Given the description of an element on the screen output the (x, y) to click on. 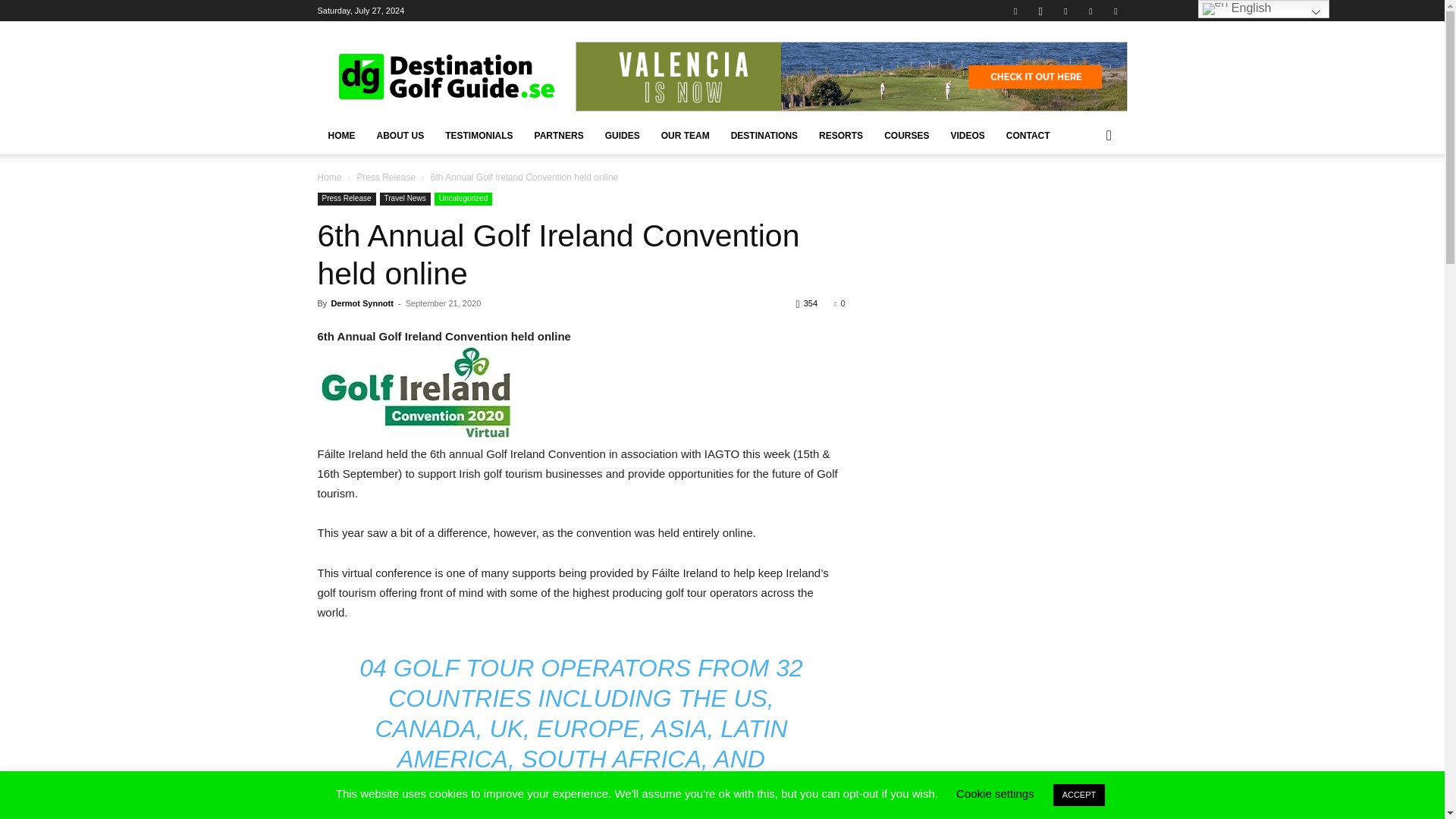
DESTINATIONS (764, 135)
ABOUT US (399, 135)
Linkedin (1065, 10)
Twitter (1090, 10)
GUIDES (622, 135)
View all posts in Press Release (385, 176)
OUR TEAM (685, 135)
CONTACT (1028, 135)
Youtube (1114, 10)
TESTIMONIALS (477, 135)
Facebook (1015, 10)
COURSES (906, 135)
PARTNERS (559, 135)
RESORTS (840, 135)
Instagram (1040, 10)
